Given the description of an element on the screen output the (x, y) to click on. 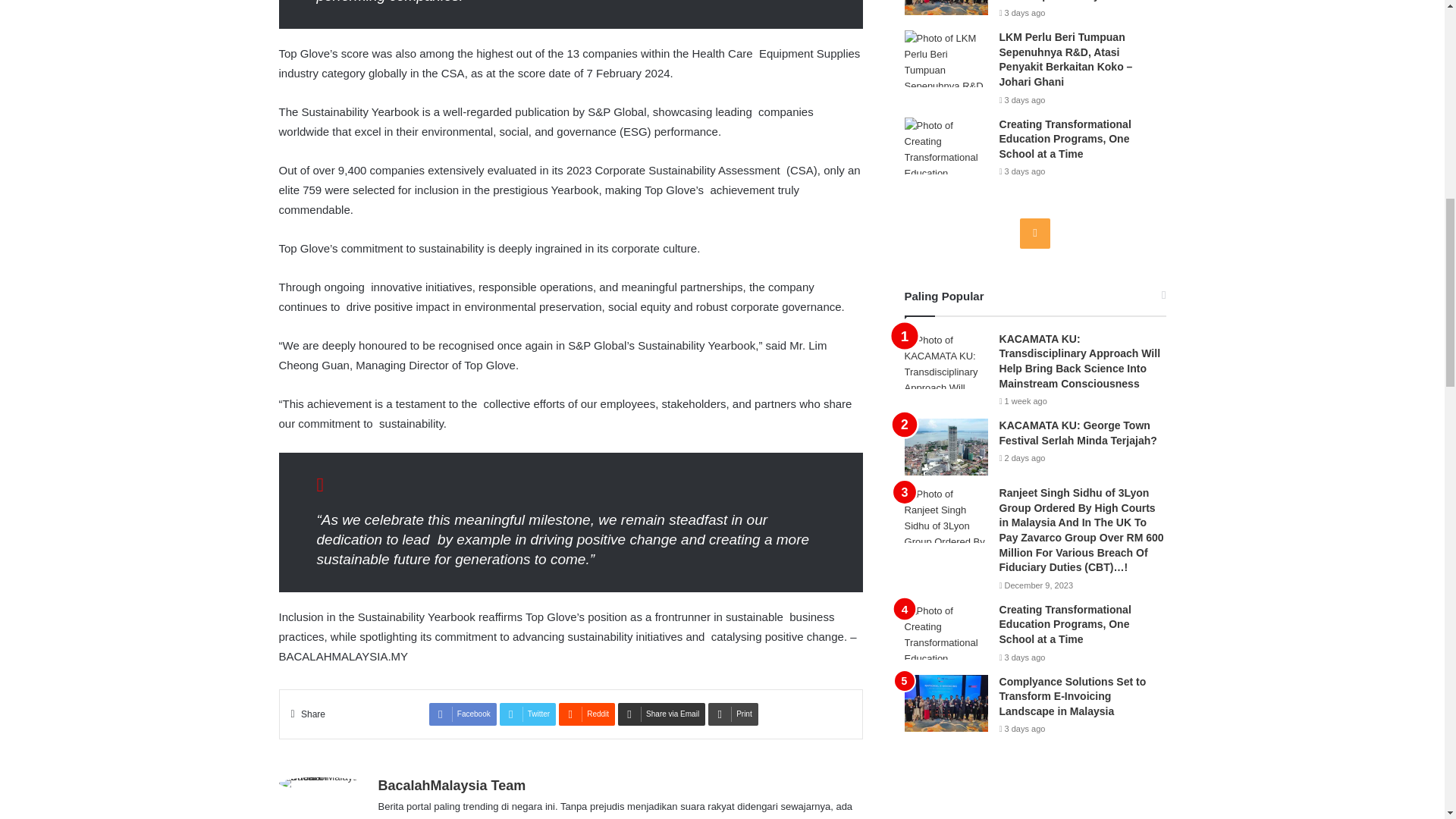
Share via Email (660, 713)
Reddit (586, 713)
BacalahMalaysia Team (451, 785)
Facebook (462, 713)
Print (732, 713)
Twitter (527, 713)
